Given the description of an element on the screen output the (x, y) to click on. 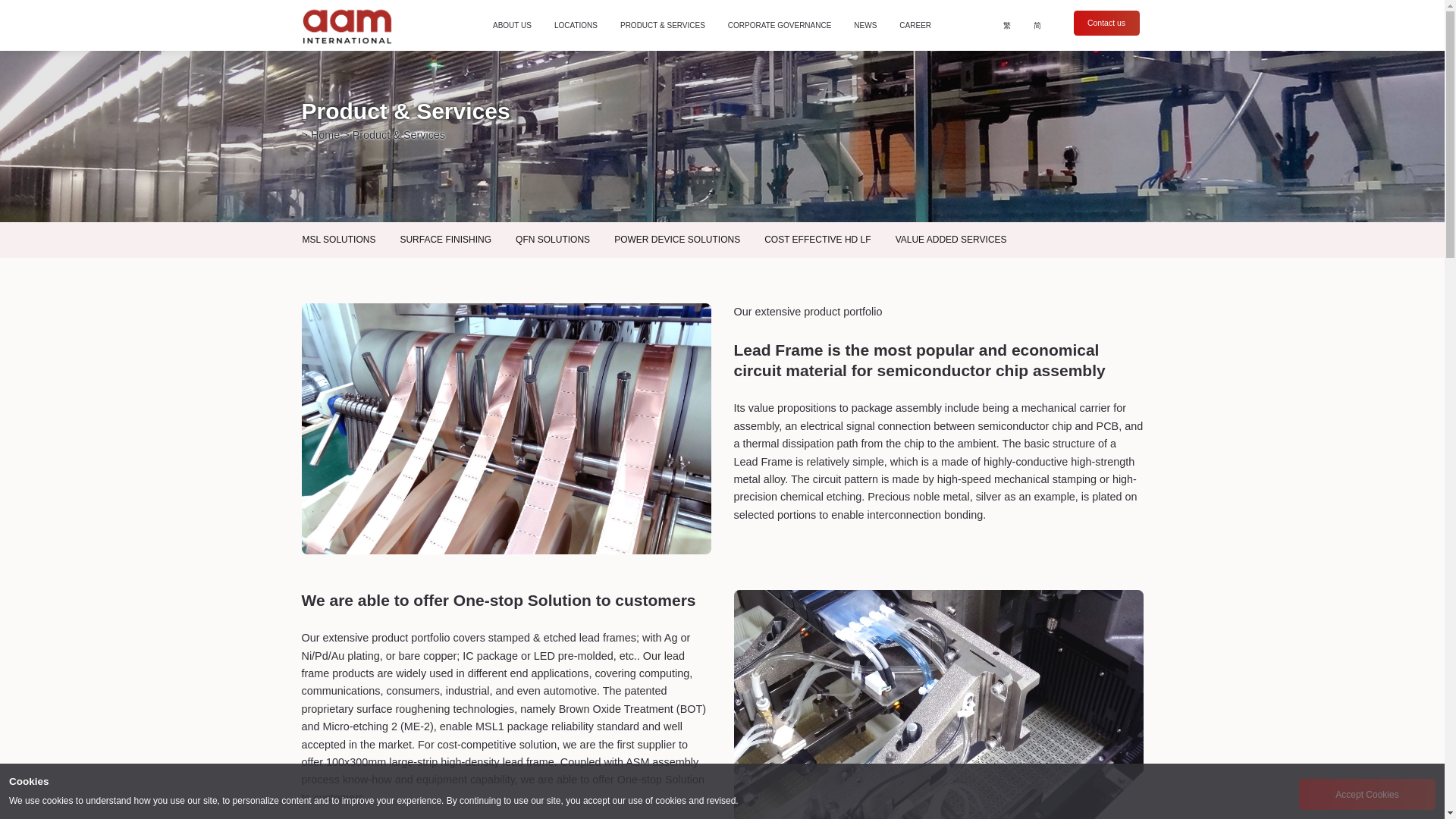
VALUE ADDED SERVICES (951, 239)
MSL SOLUTIONS (338, 239)
SURFACE FINISHING (445, 239)
POWER DEVICE SOLUTIONS (677, 239)
LOCATIONS (575, 25)
ABOUT US (511, 25)
aam (350, 25)
QFN SOLUTIONS (552, 239)
NEWS (865, 25)
CORPORATE GOVERNANCE (779, 25)
CAREER (915, 25)
COST EFFECTIVE HD LF (817, 239)
